Given the description of an element on the screen output the (x, y) to click on. 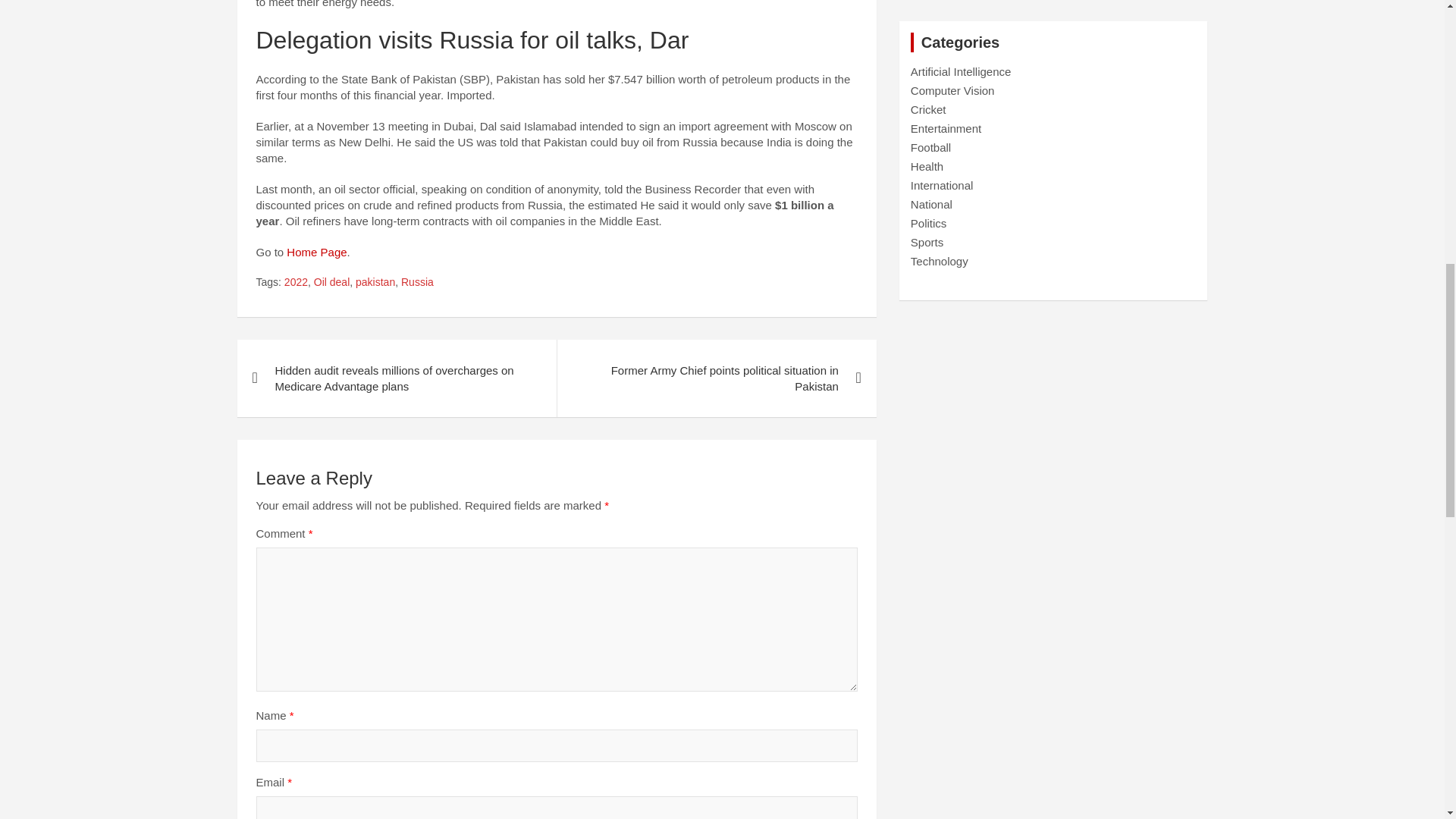
Former Army Chief points political situation in Pakistan (716, 377)
2022 (295, 282)
Russia (417, 282)
Home Page (316, 251)
Oil deal (331, 282)
pakistan (374, 282)
Home (316, 251)
